Given the description of an element on the screen output the (x, y) to click on. 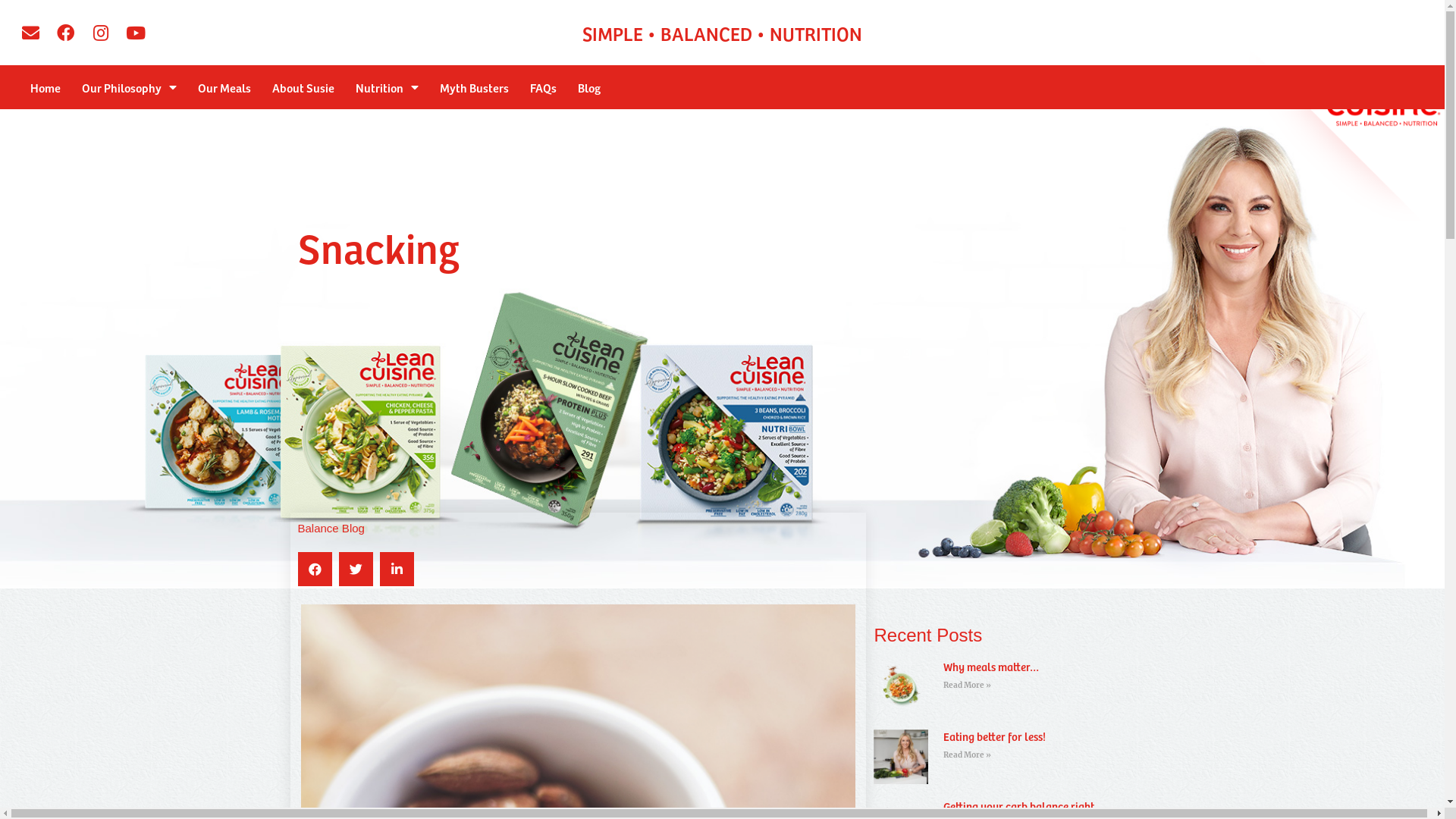
Our Meals Element type: text (224, 87)
Nutrition Element type: text (387, 87)
Home Element type: text (45, 87)
About Susie Element type: text (303, 87)
Our Philosophy Element type: text (129, 87)
Blog Element type: text (589, 87)
Myth Busters Element type: text (474, 87)
Balance Blog Element type: text (330, 527)
Getting your carb balance right Element type: text (1018, 805)
FAQs Element type: text (543, 87)
Eating better for less! Element type: text (994, 736)
